Given the description of an element on the screen output the (x, y) to click on. 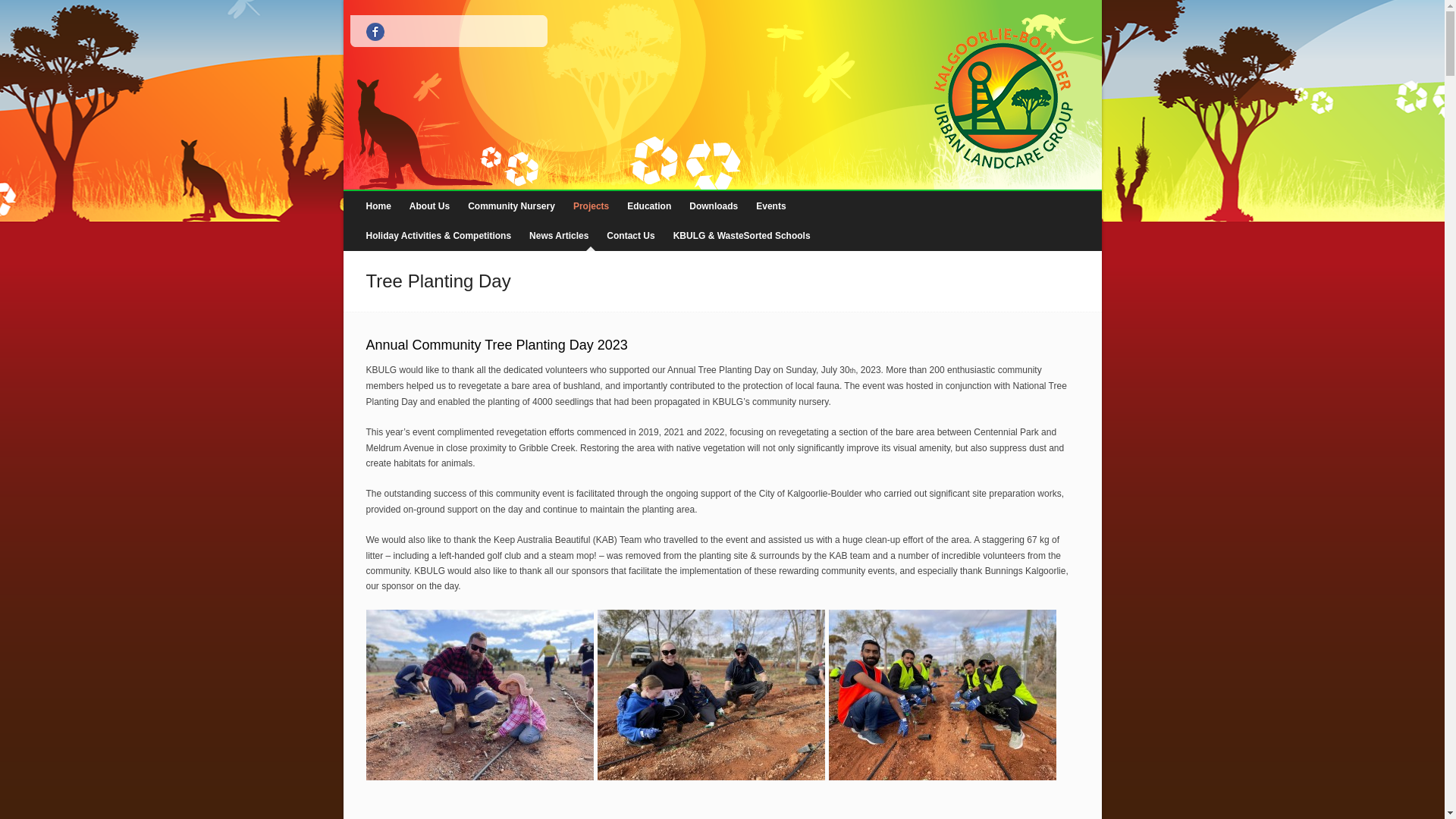
Education Element type: text (649, 206)
About Us Element type: text (429, 206)
Community Nursery Element type: text (511, 206)
Home Element type: text (377, 206)
Events Element type: text (770, 206)
KBULG & WasteSorted Schools Element type: text (741, 235)
News Articles Element type: text (558, 235)
Downloads Element type: text (713, 206)
Holiday Activities & Competitions Element type: text (438, 235)
Contact Us Element type: text (630, 235)
Projects Element type: text (591, 206)
Facebook Element type: text (374, 31)
